Given the description of an element on the screen output the (x, y) to click on. 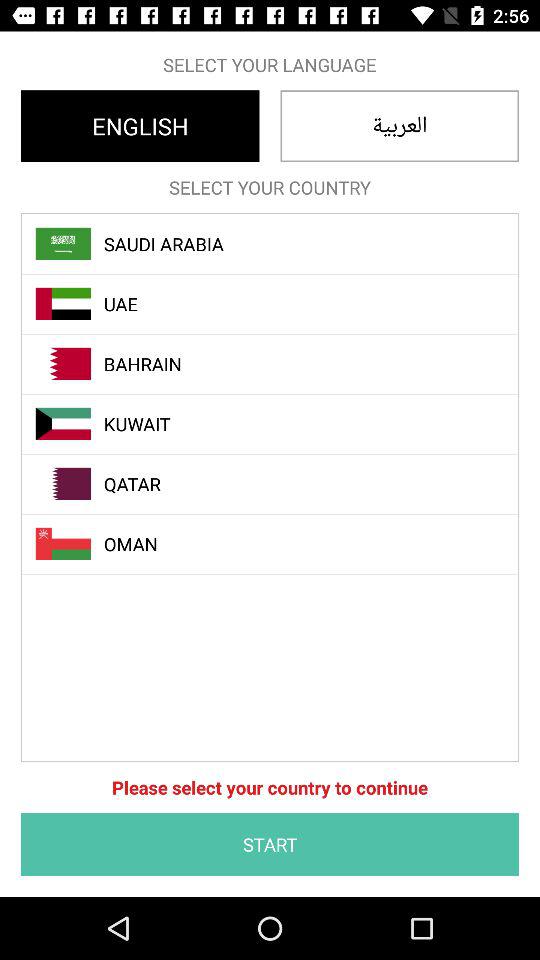
click item to the right of the english icon (399, 126)
